Given the description of an element on the screen output the (x, y) to click on. 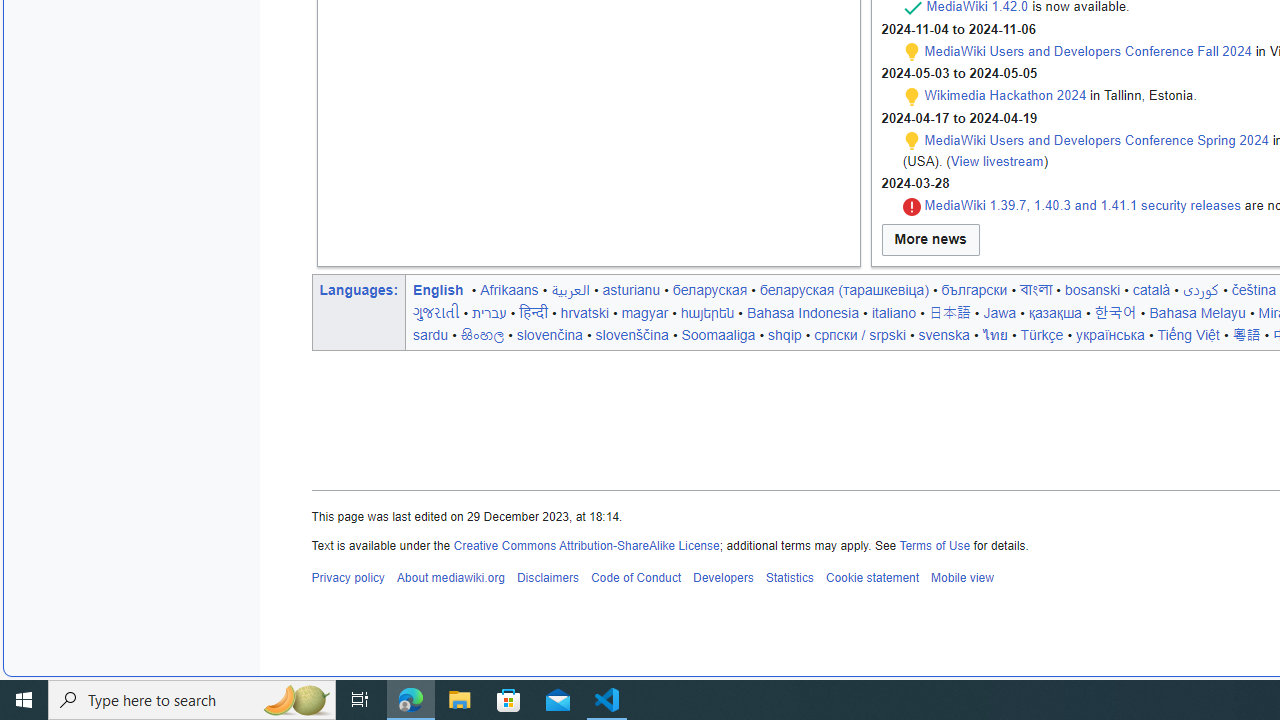
Developers (722, 578)
Disclaimers (546, 578)
MediaWiki Users and Developers Conference Fall 2024 (1087, 51)
magyar (644, 312)
Privacy policy (348, 578)
Bahasa Melayu (1197, 312)
Code of Conduct (635, 578)
MediaWiki Users and Developers Conference Spring 2024 (1096, 139)
italiano (893, 312)
